Given the description of an element on the screen output the (x, y) to click on. 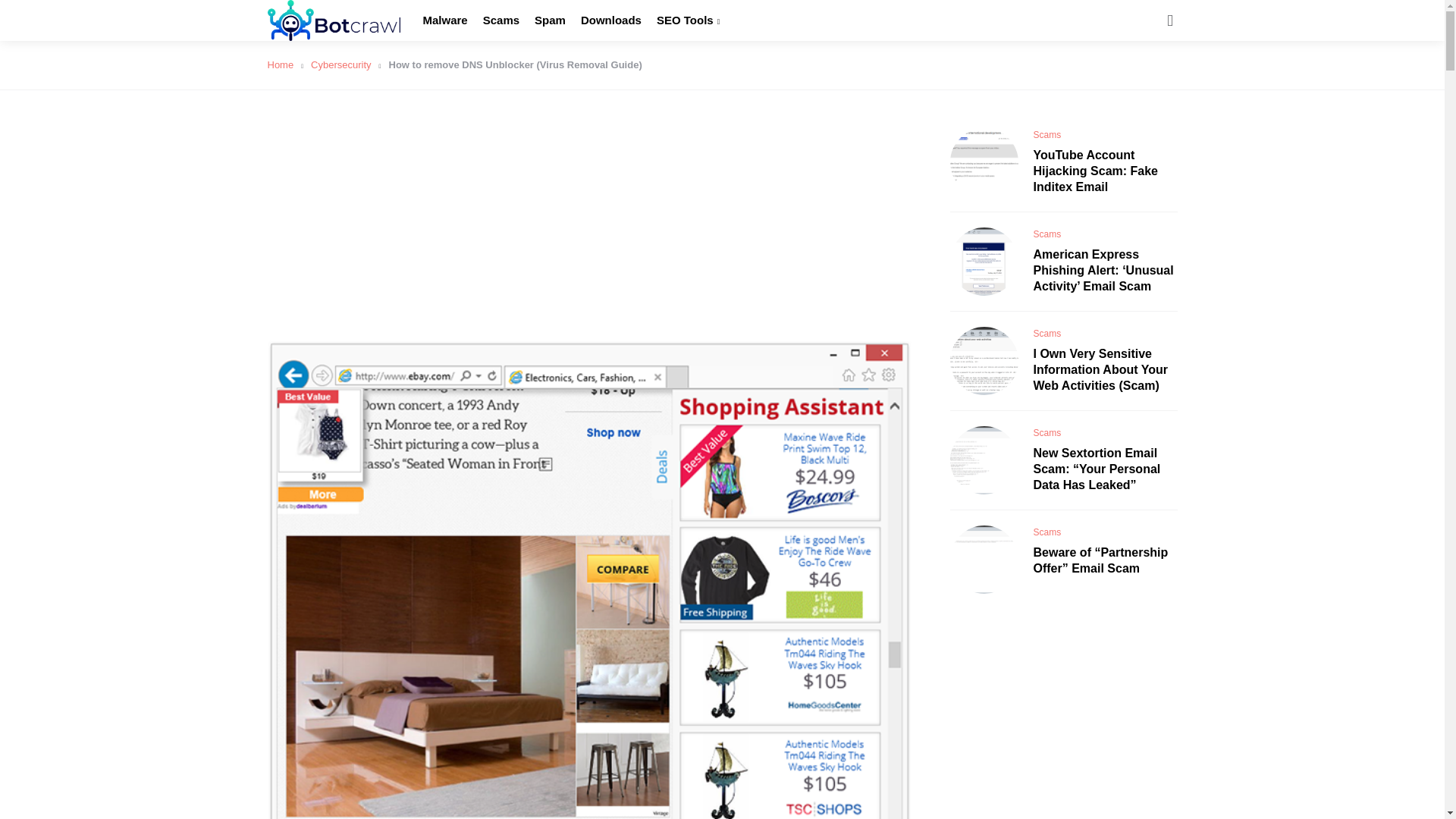
Spam (550, 20)
Malware (445, 20)
SEO Tools (687, 20)
Cybersecurity (345, 64)
Downloads (611, 20)
Home (284, 64)
Scams (501, 20)
